Given the description of an element on the screen output the (x, y) to click on. 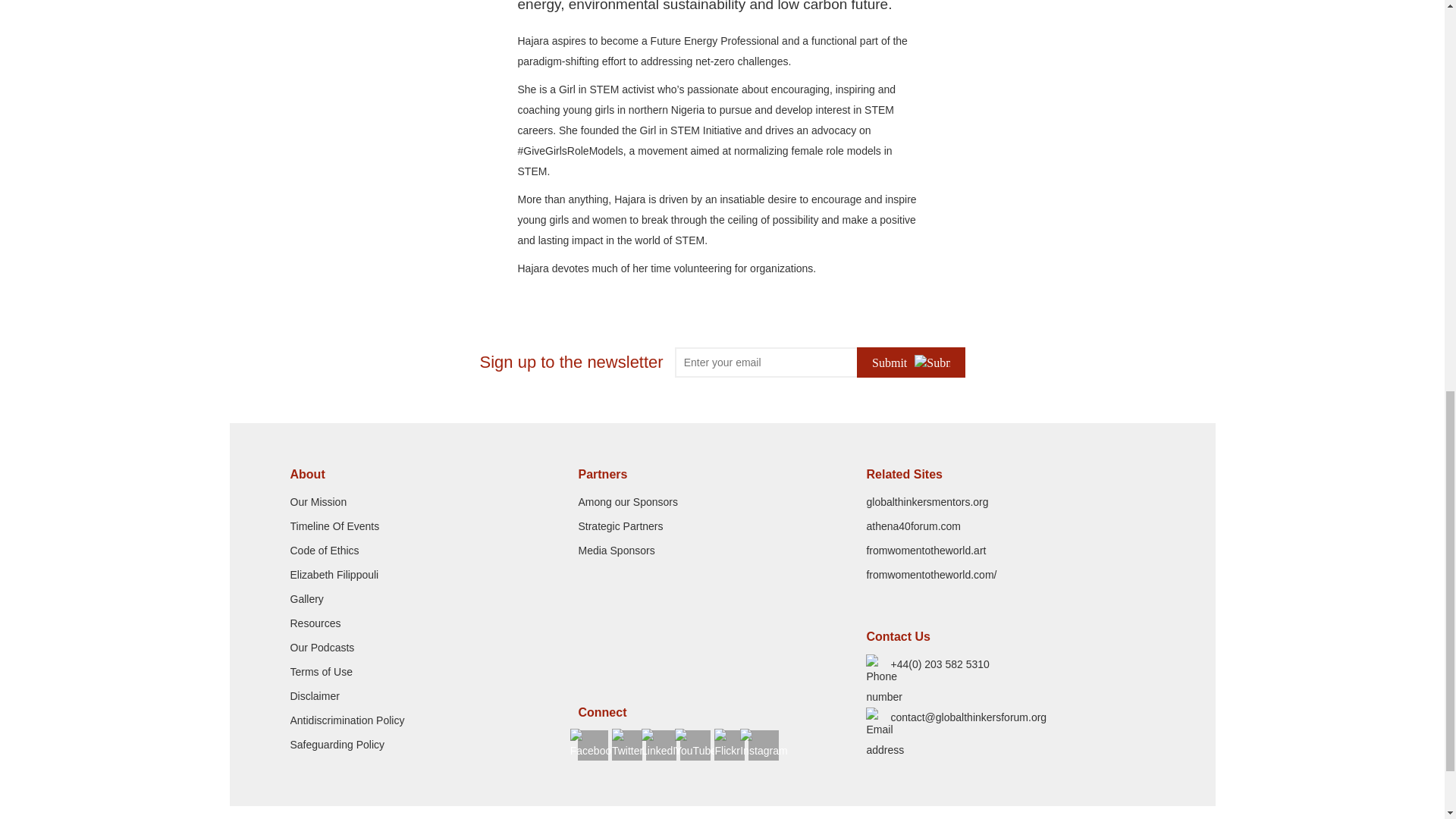
globalthinkersmentors.org (927, 501)
athena40forum.com (913, 526)
Partners (722, 474)
Gallery (306, 598)
Terms of Use (320, 671)
Media Sponsors (615, 550)
Safeguarding Policy (336, 744)
Our Mission (317, 501)
Elizabeth Filippouli (333, 574)
Our Podcasts (321, 647)
fromwomentotheworld.art (925, 550)
Resources (314, 623)
Submit (910, 362)
Related Sites (1010, 474)
Strategic Partners (620, 526)
